Given the description of an element on the screen output the (x, y) to click on. 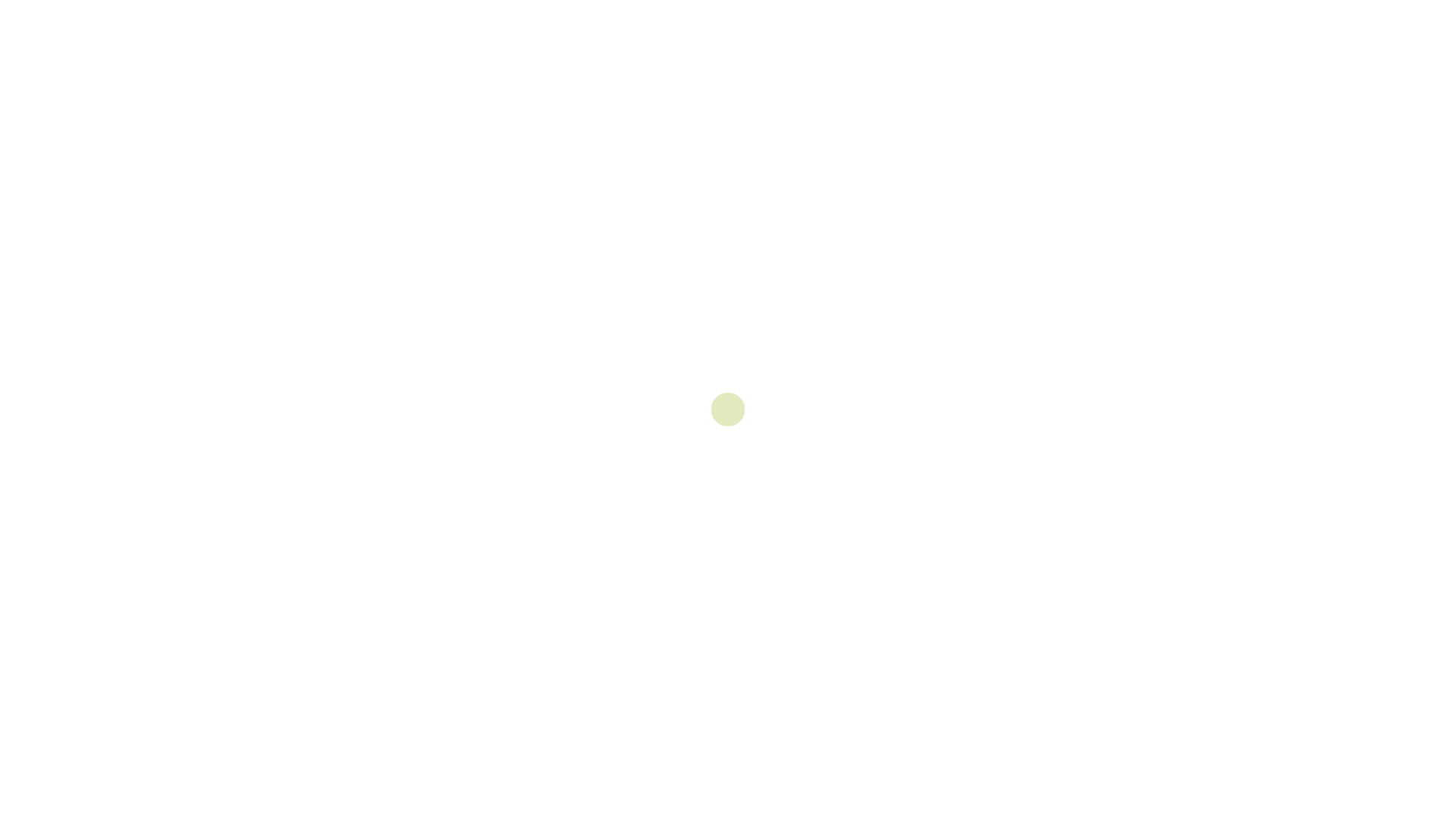
info@2-r.ch Element type: text (783, 648)
041 921 16 02 Element type: text (680, 648)
